Given the description of an element on the screen output the (x, y) to click on. 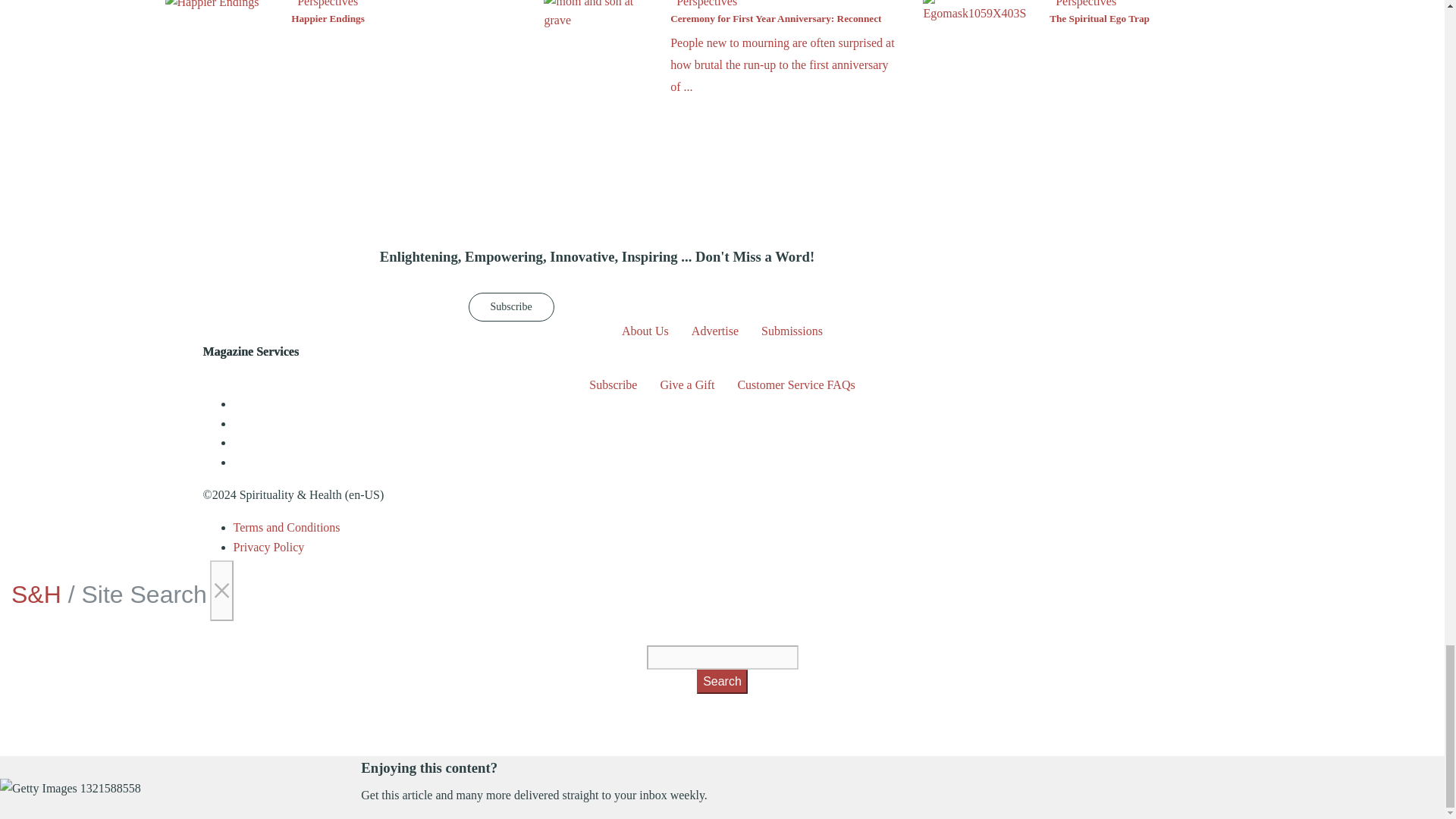
Search (722, 681)
